Given the description of an element on the screen output the (x, y) to click on. 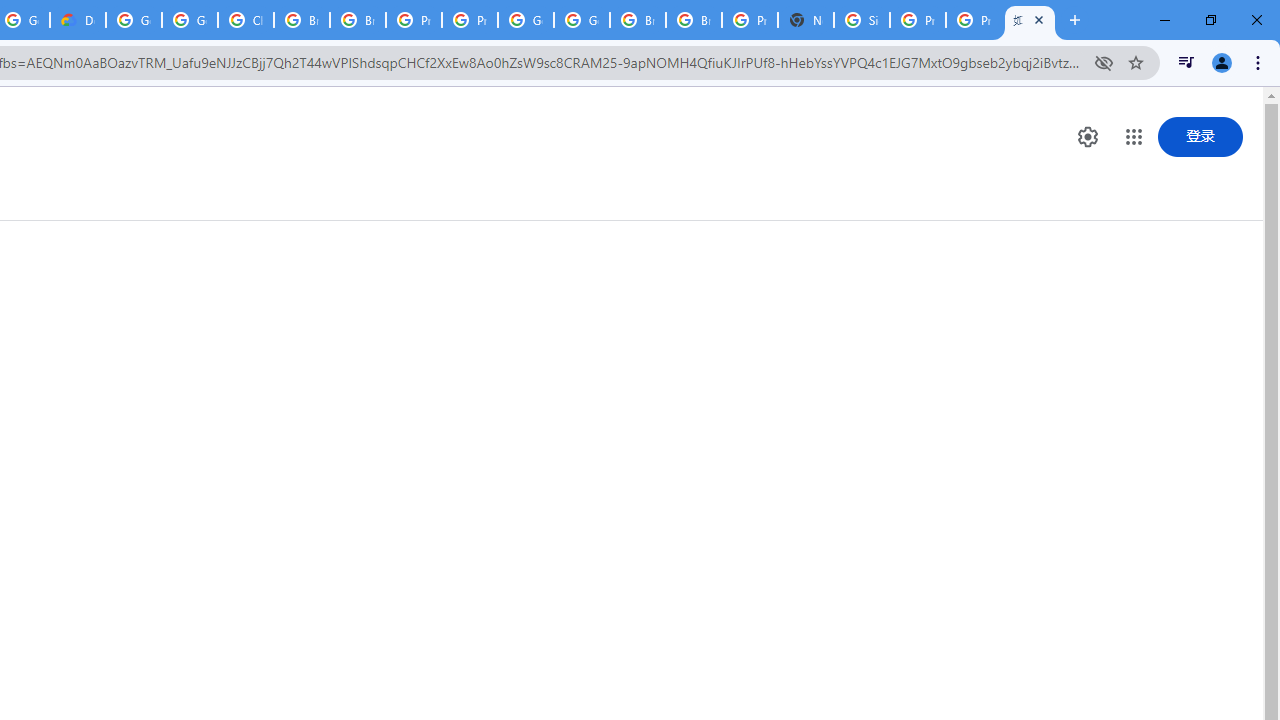
Google Cloud Platform (134, 20)
Google Cloud Platform (582, 20)
